Given the description of an element on the screen output the (x, y) to click on. 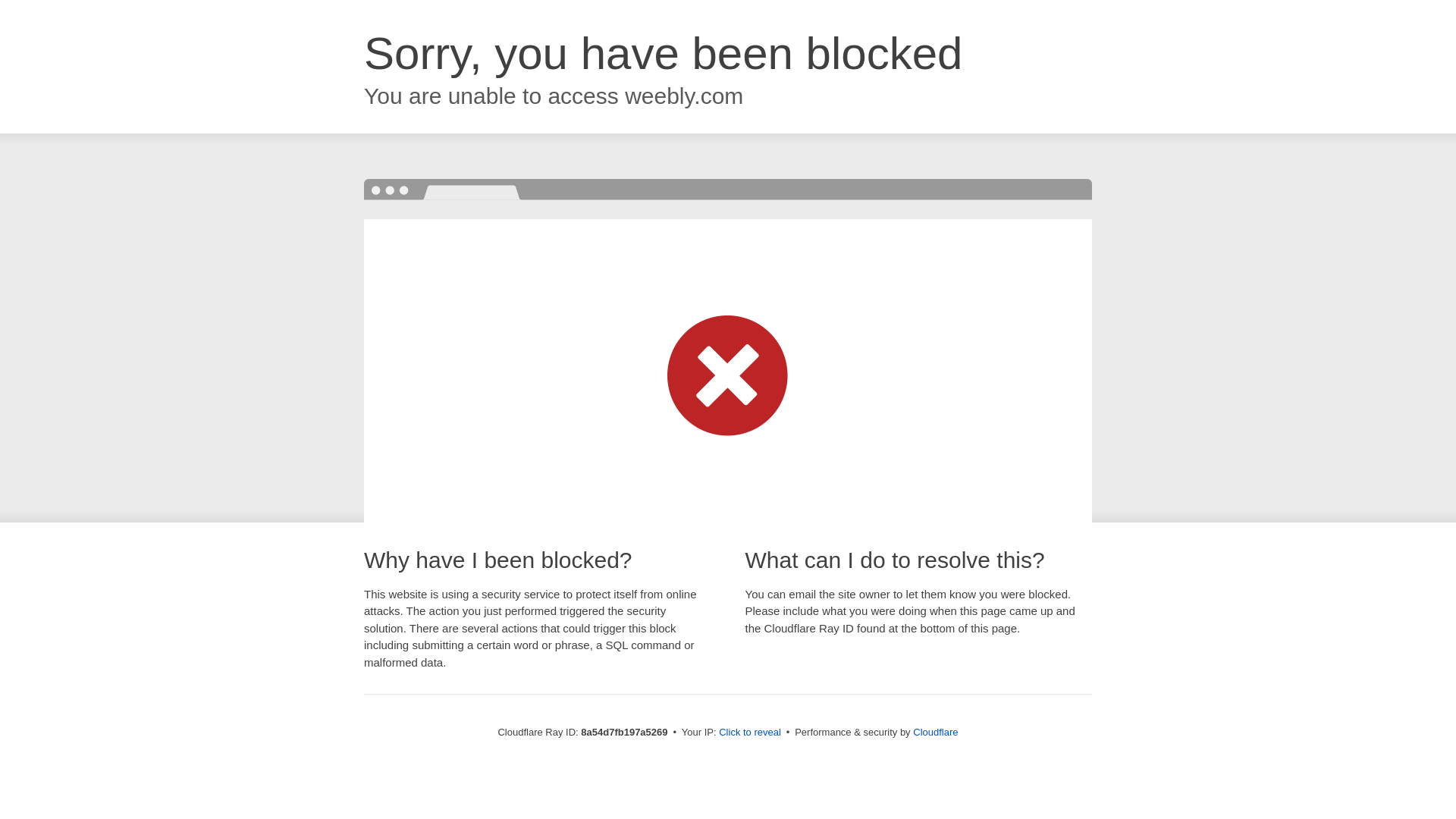
Cloudflare (935, 731)
Click to reveal (749, 732)
